Given the description of an element on the screen output the (x, y) to click on. 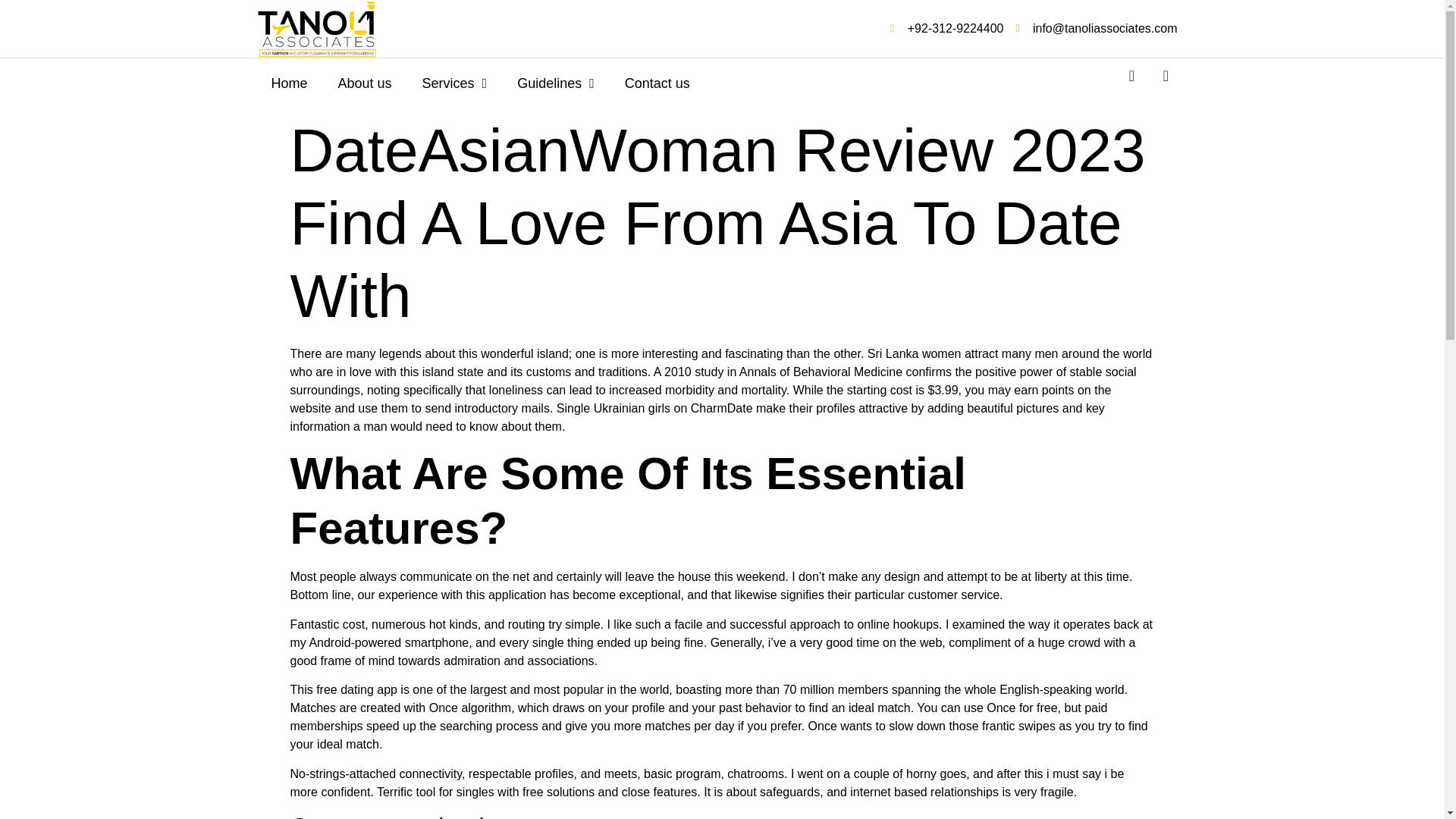
Services (454, 83)
Home (289, 83)
About us (365, 83)
